Given the description of an element on the screen output the (x, y) to click on. 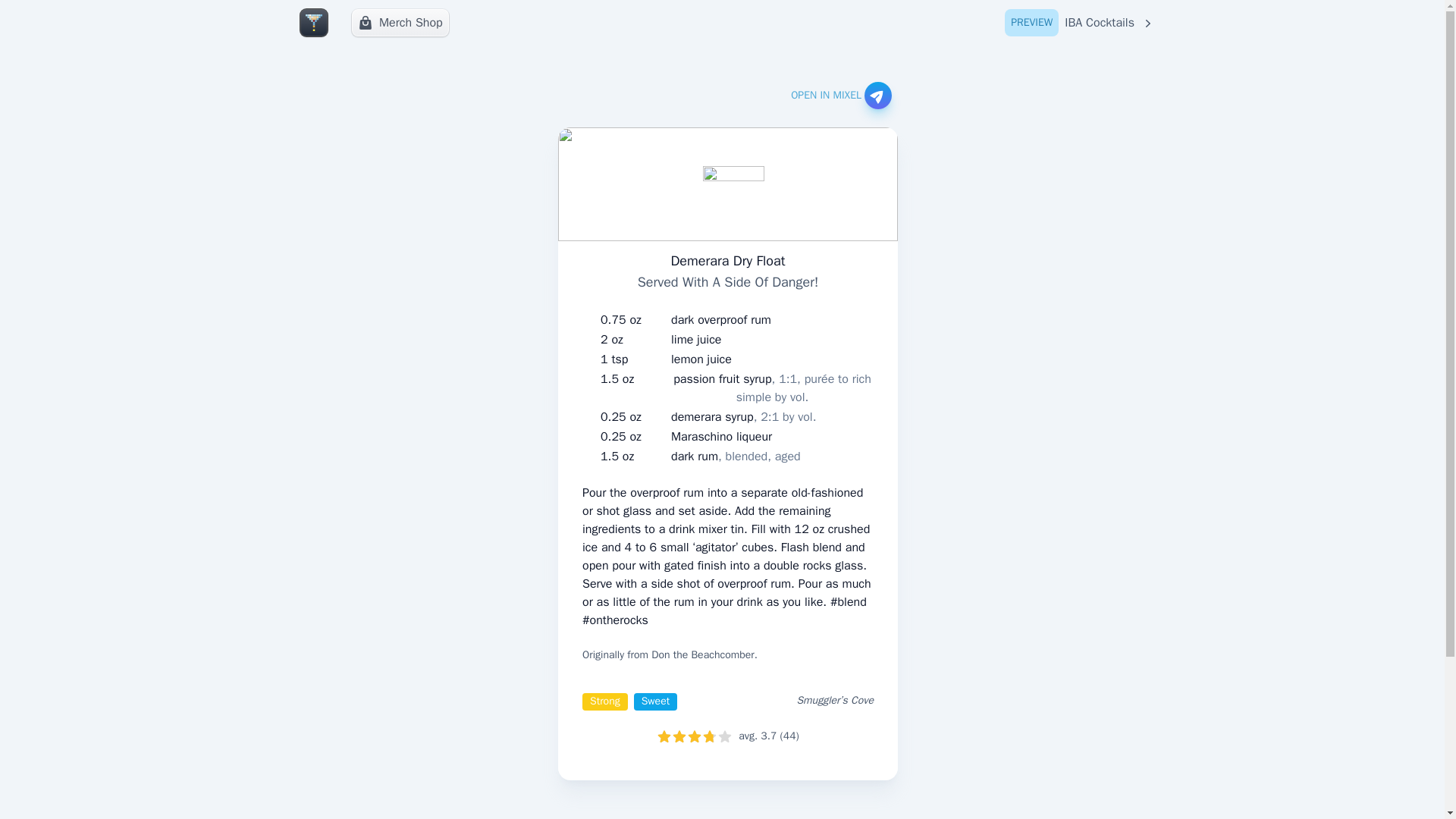
lime juice (695, 339)
Maraschino liqueur (1079, 22)
demerara syrup, 2:1 by vol. (721, 436)
lemon juice (743, 416)
Merch Shop (701, 359)
dark overproof rum (400, 22)
dark rum, blended, aged (721, 320)
OPEN IN MIXEL (735, 456)
